Given the description of an element on the screen output the (x, y) to click on. 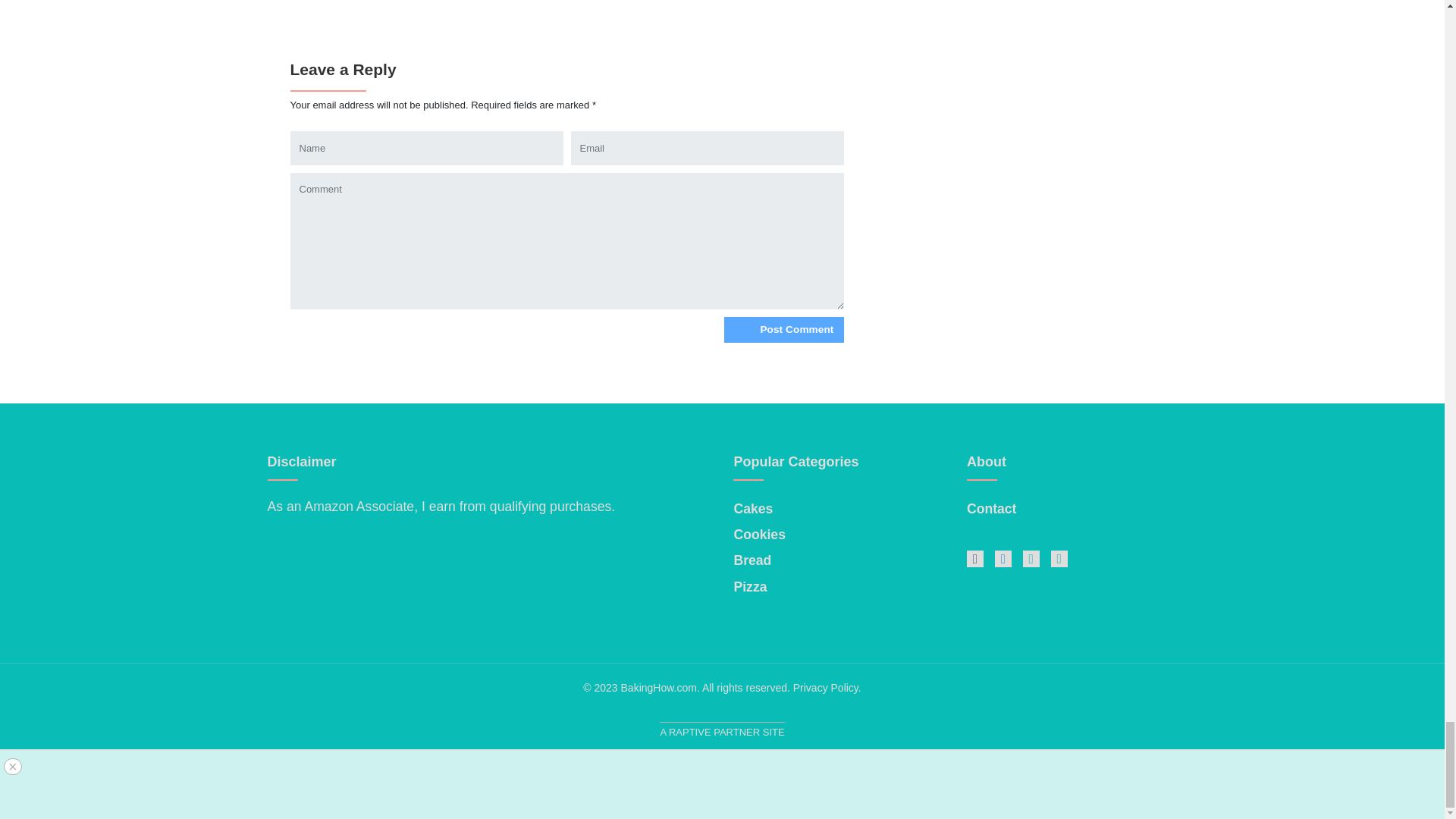
Post Comment (783, 329)
